Given the description of an element on the screen output the (x, y) to click on. 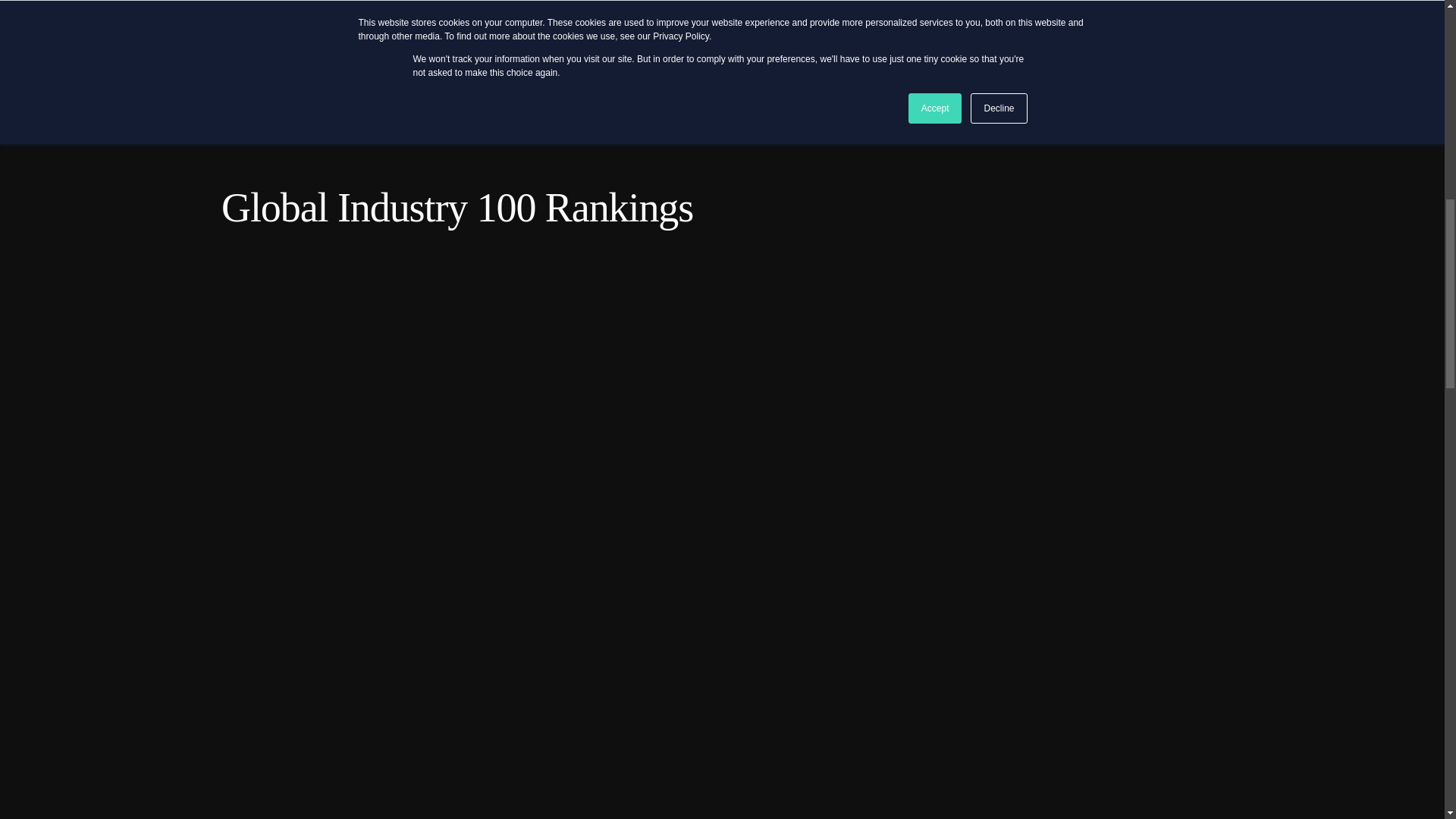
Get the Report (788, 4)
